Given the description of an element on the screen output the (x, y) to click on. 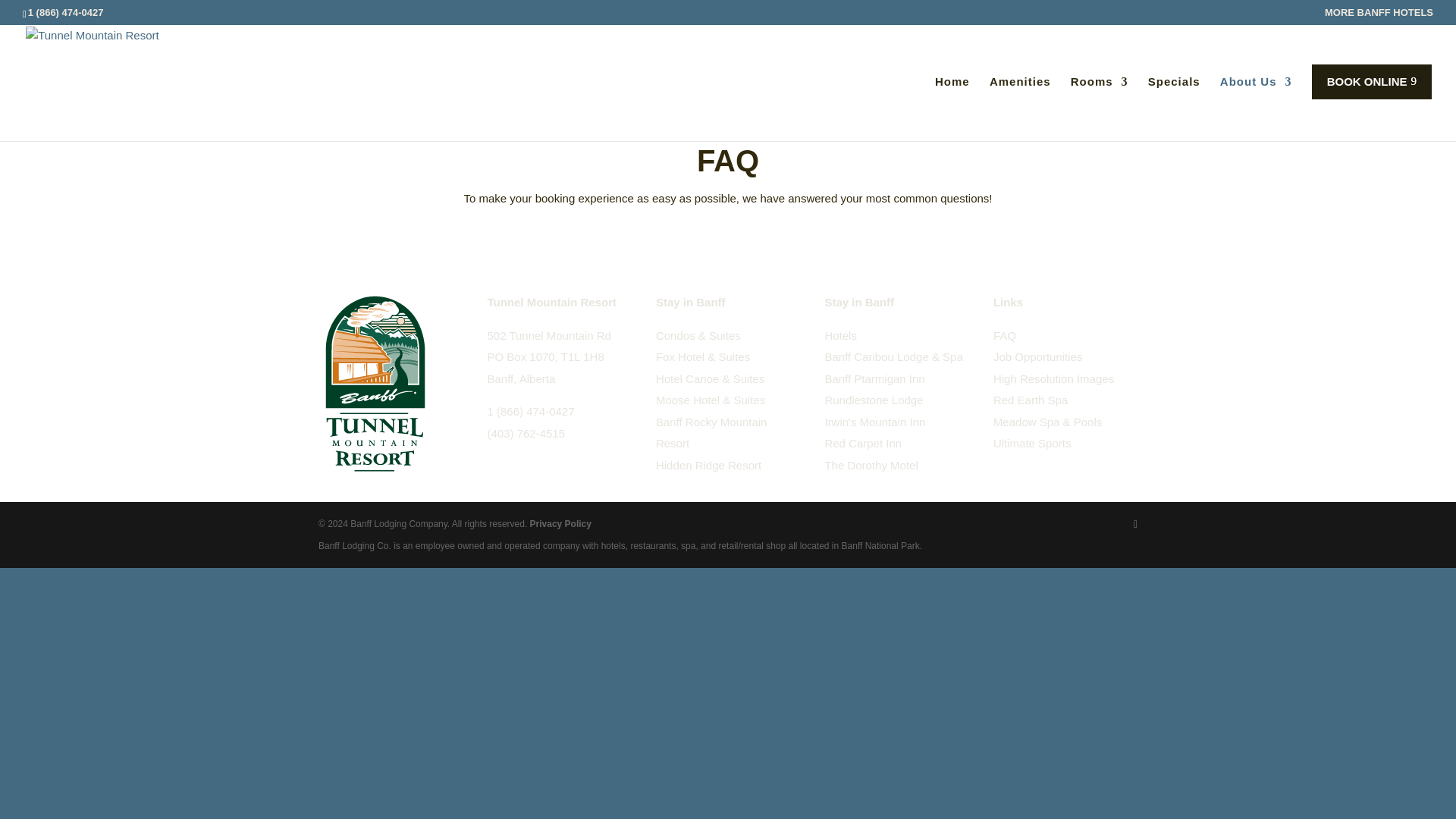
Amenities (1020, 106)
Banff Rocky Mountain Resort (711, 443)
Rundlestone Lodge (873, 399)
About Us (1256, 106)
Banff Ptarmigan Inn (874, 377)
Irwin's Mountain Inn (874, 421)
The Dorothy Motel (870, 463)
Job Opportunities (1037, 356)
FAQ (1004, 335)
Hidden Ridge Resort (708, 475)
